Given the description of an element on the screen output the (x, y) to click on. 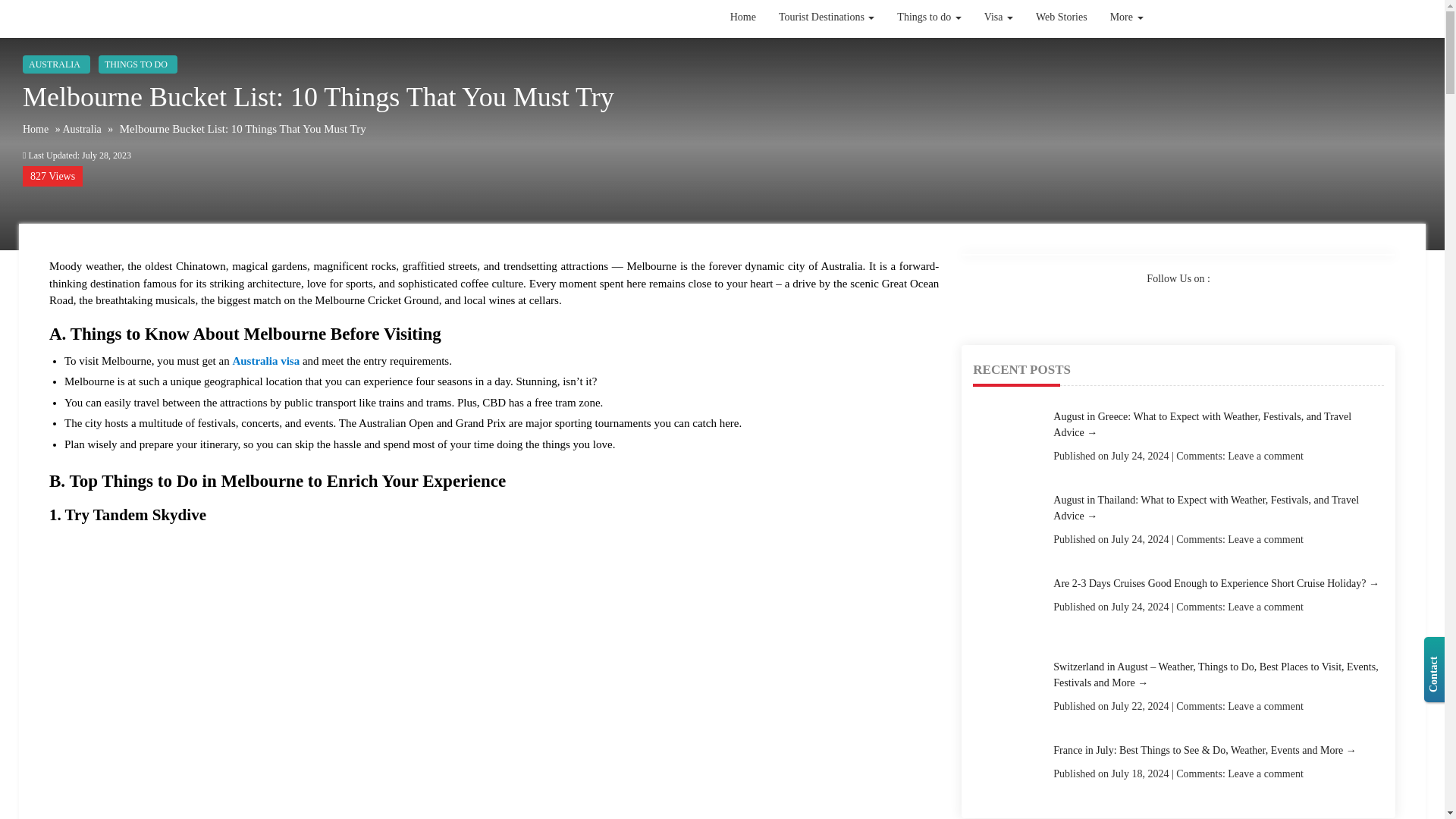
Visa (998, 17)
More (1126, 17)
Web Stories (1062, 17)
Tourist Destinations (826, 17)
Things to do (928, 25)
Home (743, 17)
Things to do (928, 17)
Home (743, 52)
Tourist Destinations (826, 50)
